Given the description of an element on the screen output the (x, y) to click on. 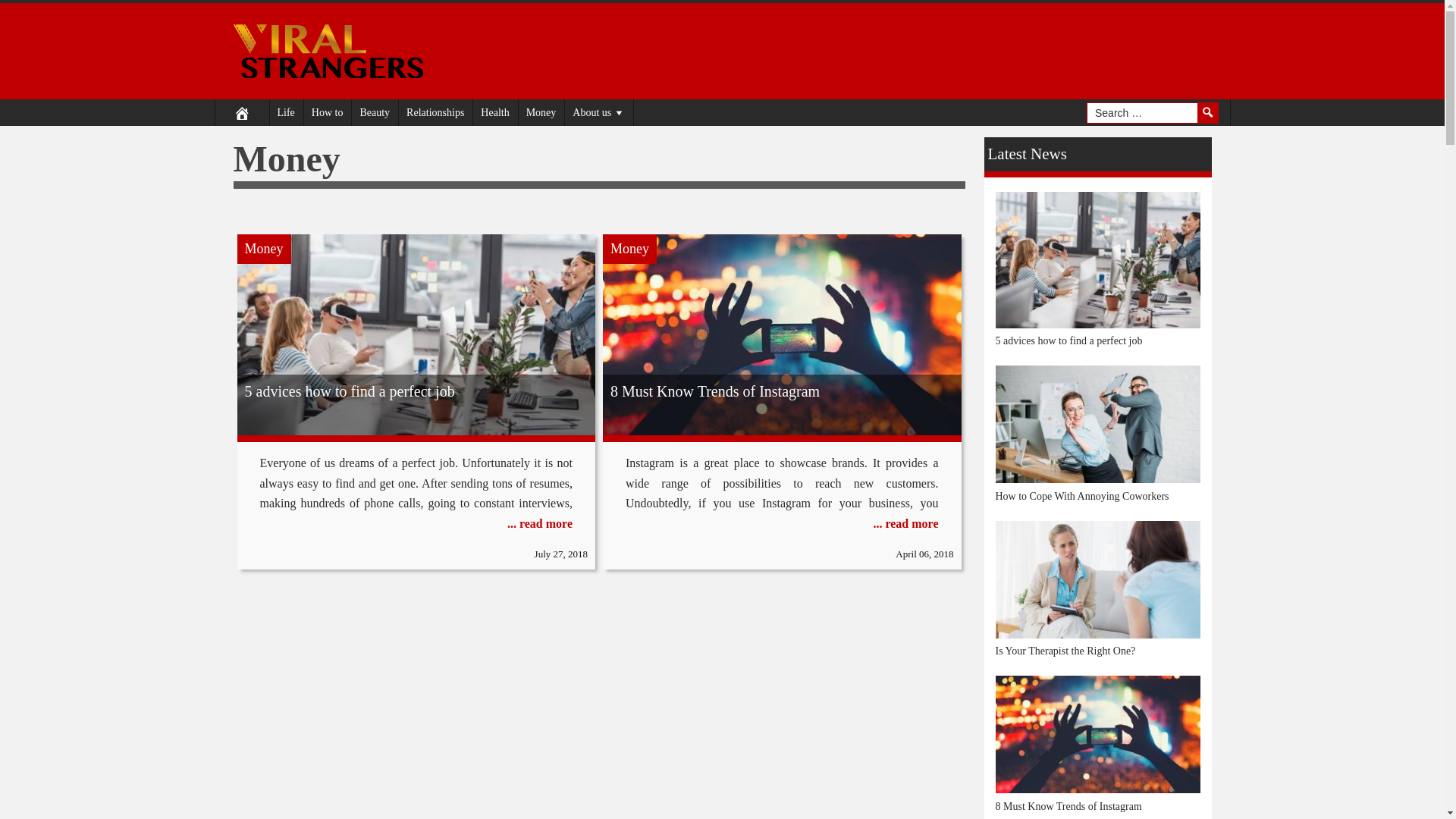
... read more (904, 522)
Money (262, 248)
Is Your Therapist the Right One? (1064, 650)
5 advices how to find a perfect job (1067, 340)
About us (598, 112)
5 advices how to find a perfect job (416, 391)
How to (327, 112)
Money (629, 248)
Money (629, 248)
Life (284, 112)
Money (541, 112)
8 Must Know Trends of Instagram (1067, 806)
Relationships (434, 112)
Beauty (373, 112)
Money (262, 248)
